Given the description of an element on the screen output the (x, y) to click on. 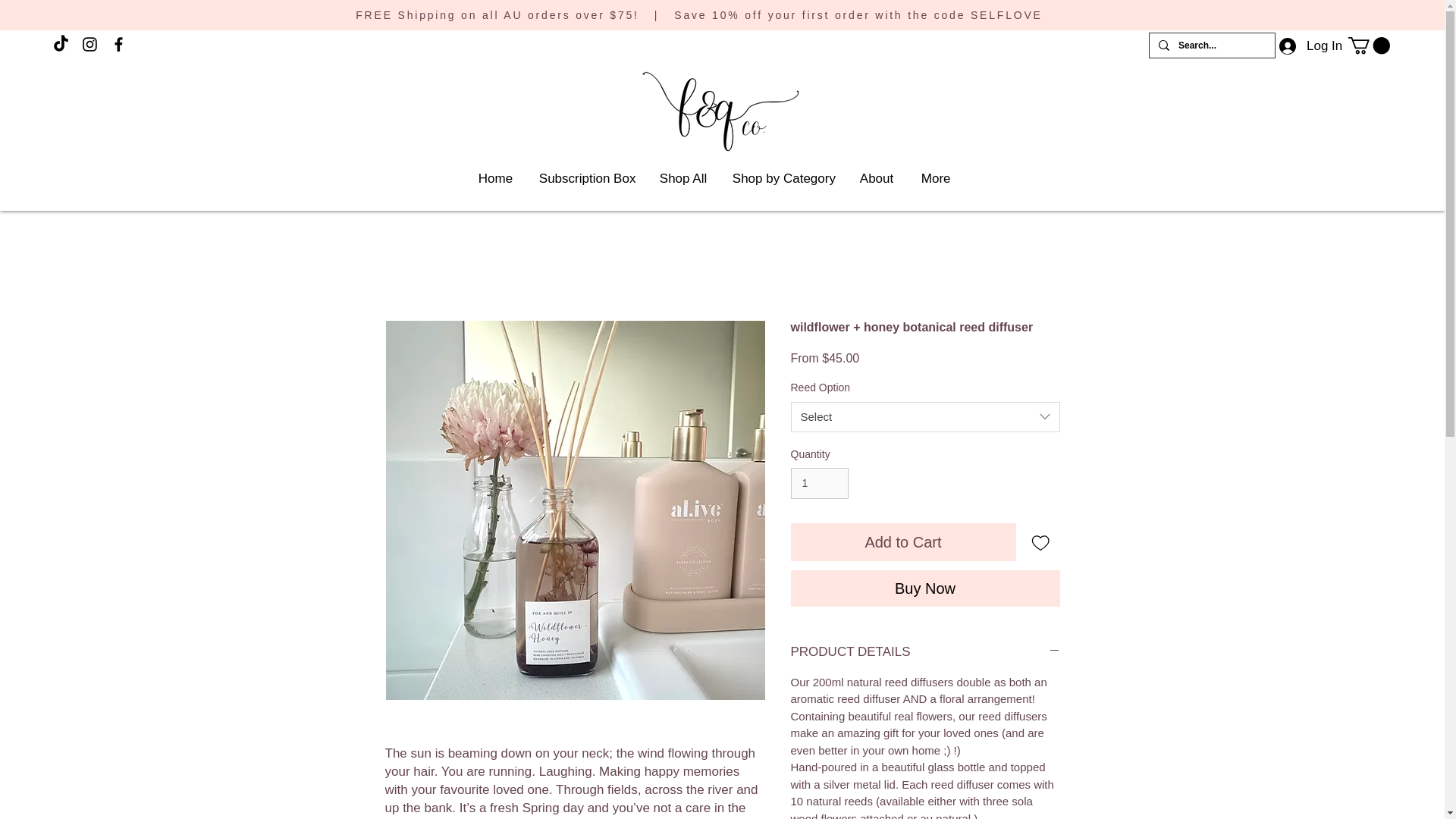
PRODUCT DETAILS (924, 651)
Add to Cart (902, 542)
Log In (1305, 45)
Home (497, 178)
Sage Green Elegant Minimalist Vintage Ar (721, 115)
Shop All (683, 178)
1 (818, 482)
Buy Now (924, 588)
Subscription Box (587, 178)
Select (924, 417)
